Given the description of an element on the screen output the (x, y) to click on. 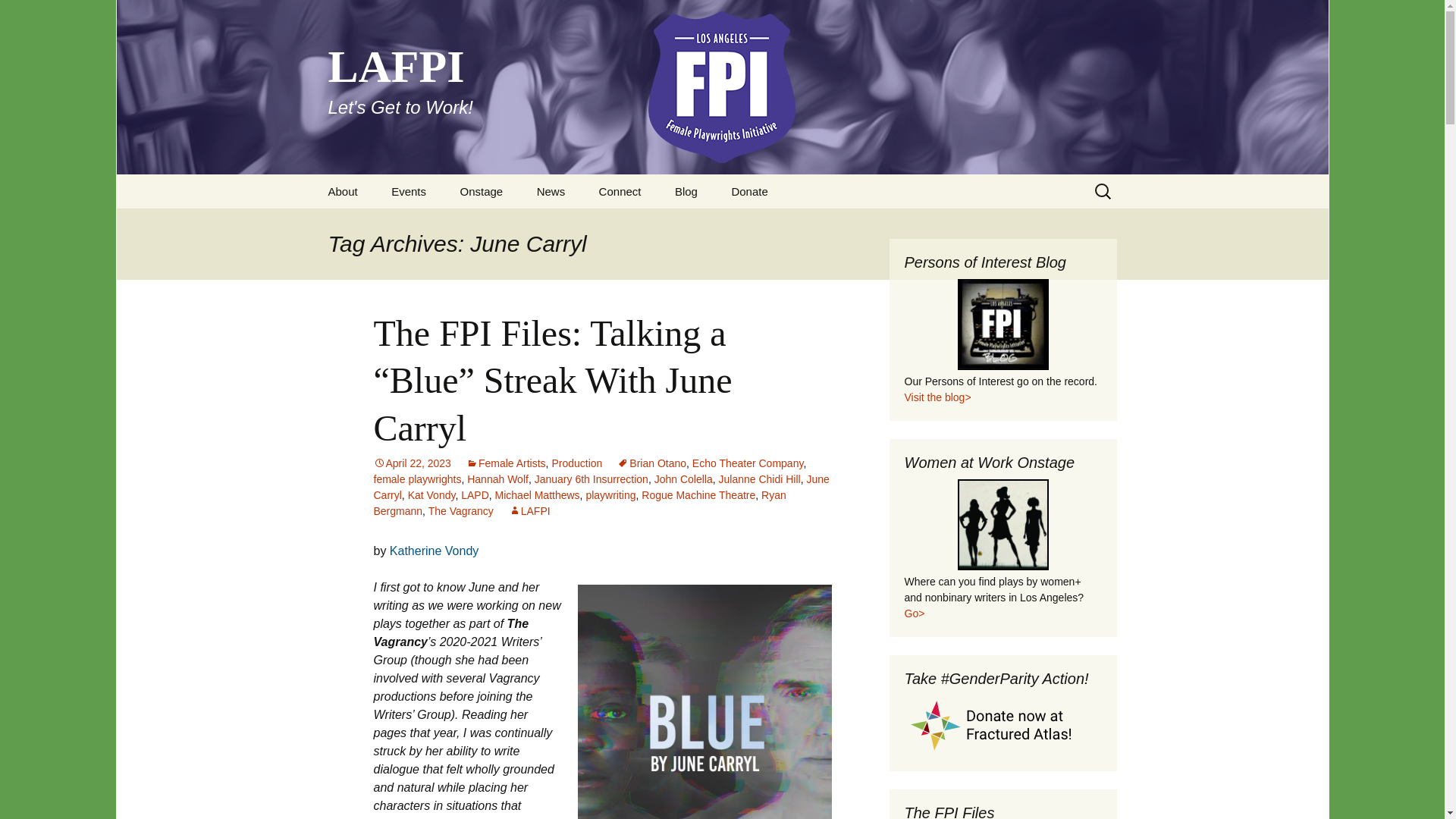
The FPI Files (519, 225)
Connect (619, 191)
Brian Otano (651, 463)
About (342, 191)
WAWO (1002, 524)
June Carryl (600, 487)
Onstage (481, 191)
Hannah Wolf (497, 479)
LAFPI (529, 510)
The Logo (388, 225)
LAPD (550, 191)
Donate (475, 494)
FPI Profiles (749, 191)
